Given the description of an element on the screen output the (x, y) to click on. 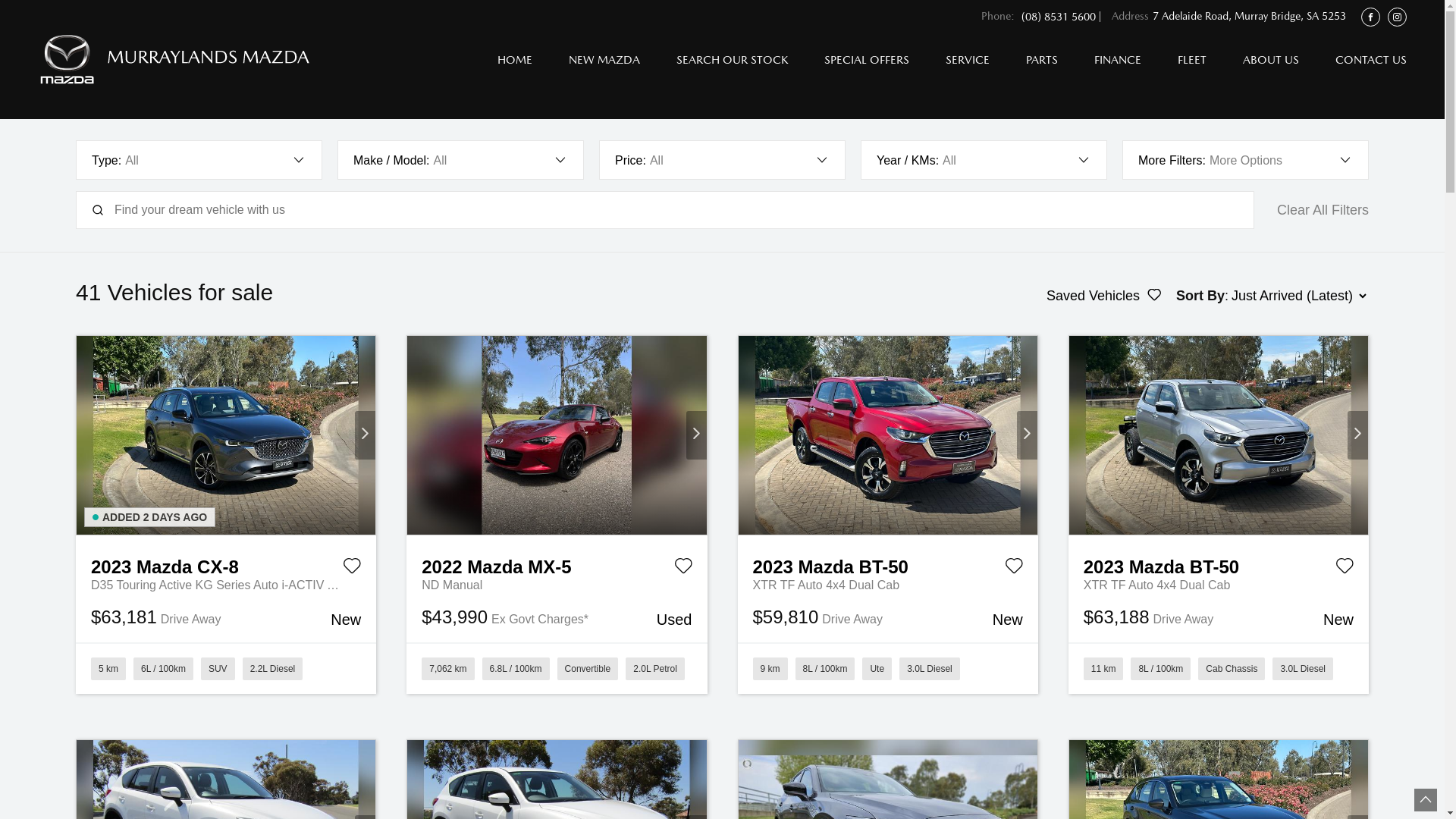
2023 Mazda BT-50
XTR TF Auto 4x4 Dual Cab Element type: text (887, 564)
5 km
6L / 100km
SUV
2.2L Diesel Element type: text (225, 667)
$63,181
Drive Away
New Element type: text (225, 618)
ABOUT US Element type: text (1270, 59)
CONTACT US Element type: text (1361, 59)
11 km
8L / 100km
Cab Chassis
3.0L Diesel Element type: text (1218, 667)
$59,810
Drive Away
New Element type: text (887, 618)
2022 Mazda MX-5
ND Manual Element type: text (556, 564)
FLEET Element type: text (1191, 59)
SPECIAL OFFERS Element type: text (866, 59)
Saved Vehicles Element type: text (1103, 295)
2023 Mazda BT-50
XTR TF Auto 4x4 Dual Cab Element type: text (1218, 564)
Save Vehicle Element type: hover (682, 568)
2022 Mazda MX-5 ND Manual Element type: hover (556, 435)
NEW MAZDA Element type: text (604, 59)
$43,990
Ex Govt Charges*
Used Element type: text (556, 618)
$63,188
Drive Away
New Element type: text (1218, 618)
Save Vehicle Element type: hover (351, 568)
(08) 8531 5600 Element type: text (1058, 16)
7,062 km
6.8L / 100km
Convertible
2.0L Petrol Element type: text (556, 667)
9 km
8L / 100km
Ute
3.0L Diesel Element type: text (887, 667)
2023 Mazda BT-50 XTR TF Auto 4x4 Dual Cab Element type: hover (1218, 435)
PARTS Element type: text (1041, 59)
Save Vehicle Element type: hover (1344, 568)
Save Vehicle Element type: hover (1013, 568)
SEARCH OUR STOCK Element type: text (732, 59)
Clear All Filters Element type: text (1322, 209)
FINANCE Element type: text (1117, 59)
2023 Mazda BT-50 XTR TF Auto 4x4 Dual Cab Element type: hover (887, 435)
HOME Element type: text (514, 59)
SERVICE Element type: text (967, 59)
